Given the description of an element on the screen output the (x, y) to click on. 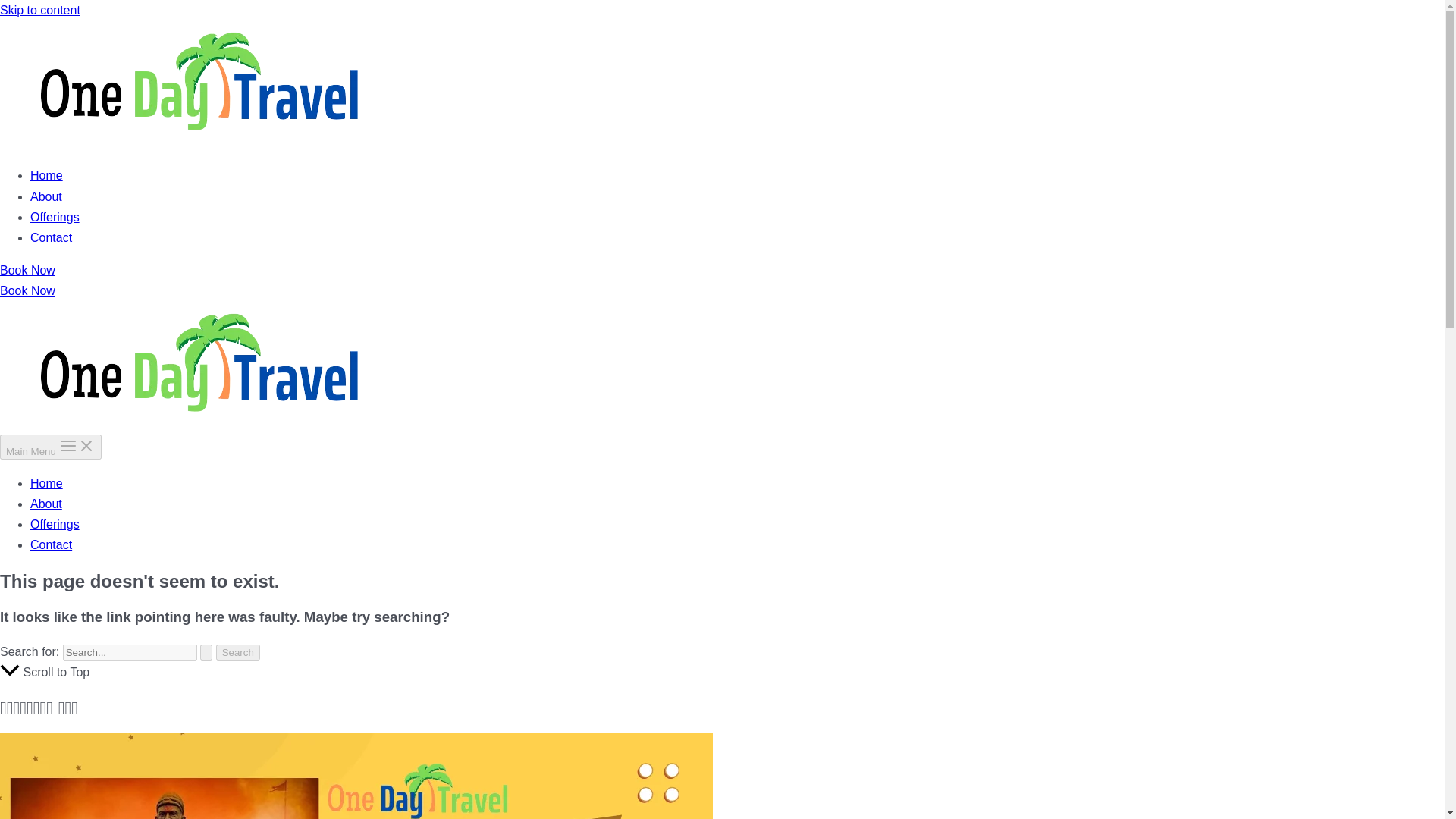
Home (46, 174)
Contact (50, 544)
Offerings (55, 523)
About (46, 196)
Offerings (55, 216)
About (46, 503)
Skip to content (40, 10)
Book Now (27, 290)
Skip to content (40, 10)
Home (46, 482)
